Given the description of an element on the screen output the (x, y) to click on. 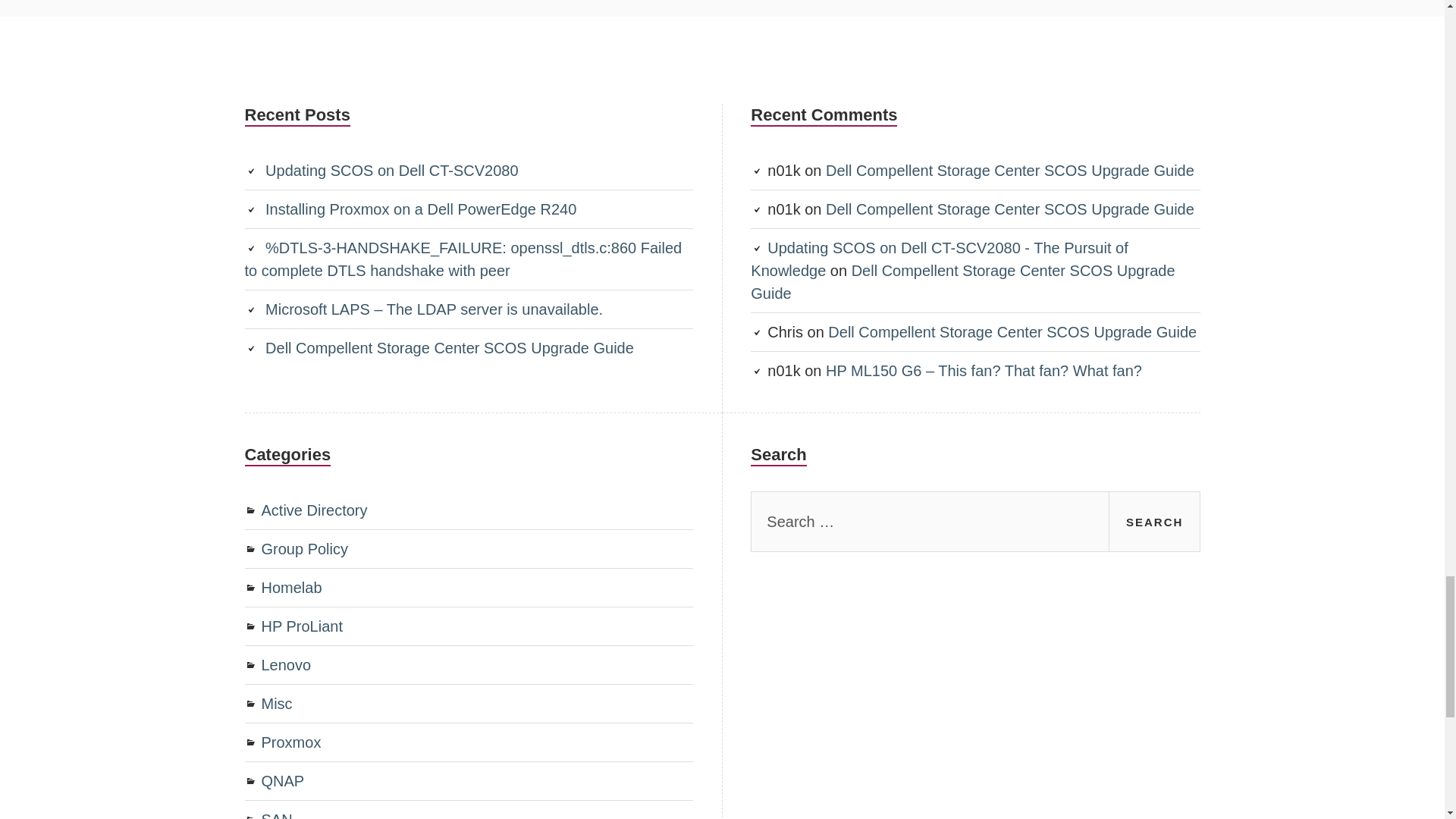
Updating SCOS on Dell CT-SCV2080 - The Pursuit of Knowledge (938, 259)
Homelab (290, 587)
Group Policy (303, 548)
Search (1153, 521)
Misc (276, 703)
HP ProLiant (301, 626)
Dell Compellent Storage Center SCOS Upgrade Guide (448, 347)
QNAP (282, 781)
Dell Compellent Storage Center SCOS Upgrade Guide (1009, 208)
Active Directory (313, 510)
